Given the description of an element on the screen output the (x, y) to click on. 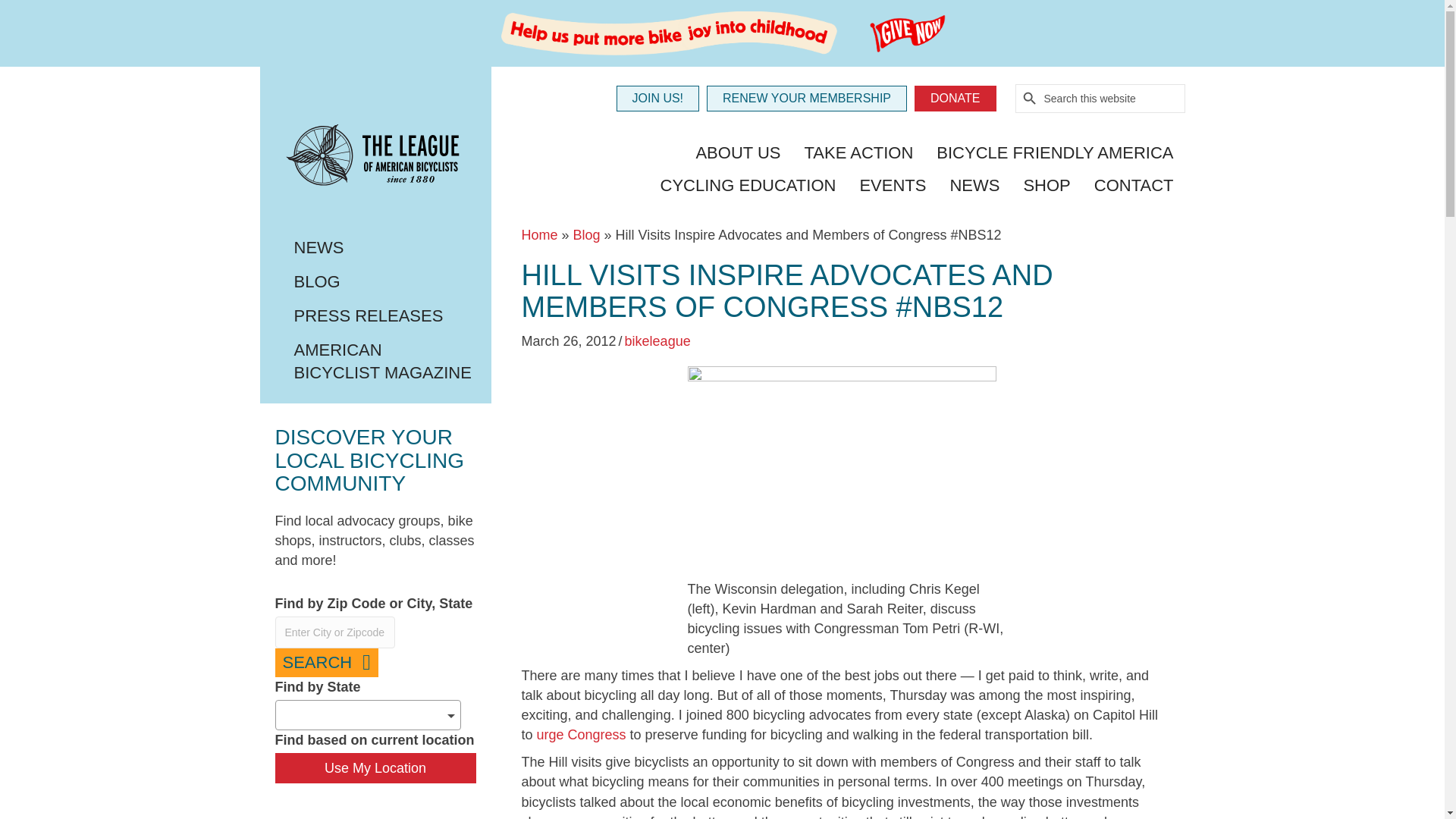
DONATE (954, 98)
JOIN US! (656, 98)
Search Button (1029, 98)
Petri meeting (841, 468)
RENEW YOUR MEMBERSHIP (806, 98)
The League of American Bicyclists (375, 158)
ABOUT US (738, 154)
TAKE ACTION (858, 154)
